Given the description of an element on the screen output the (x, y) to click on. 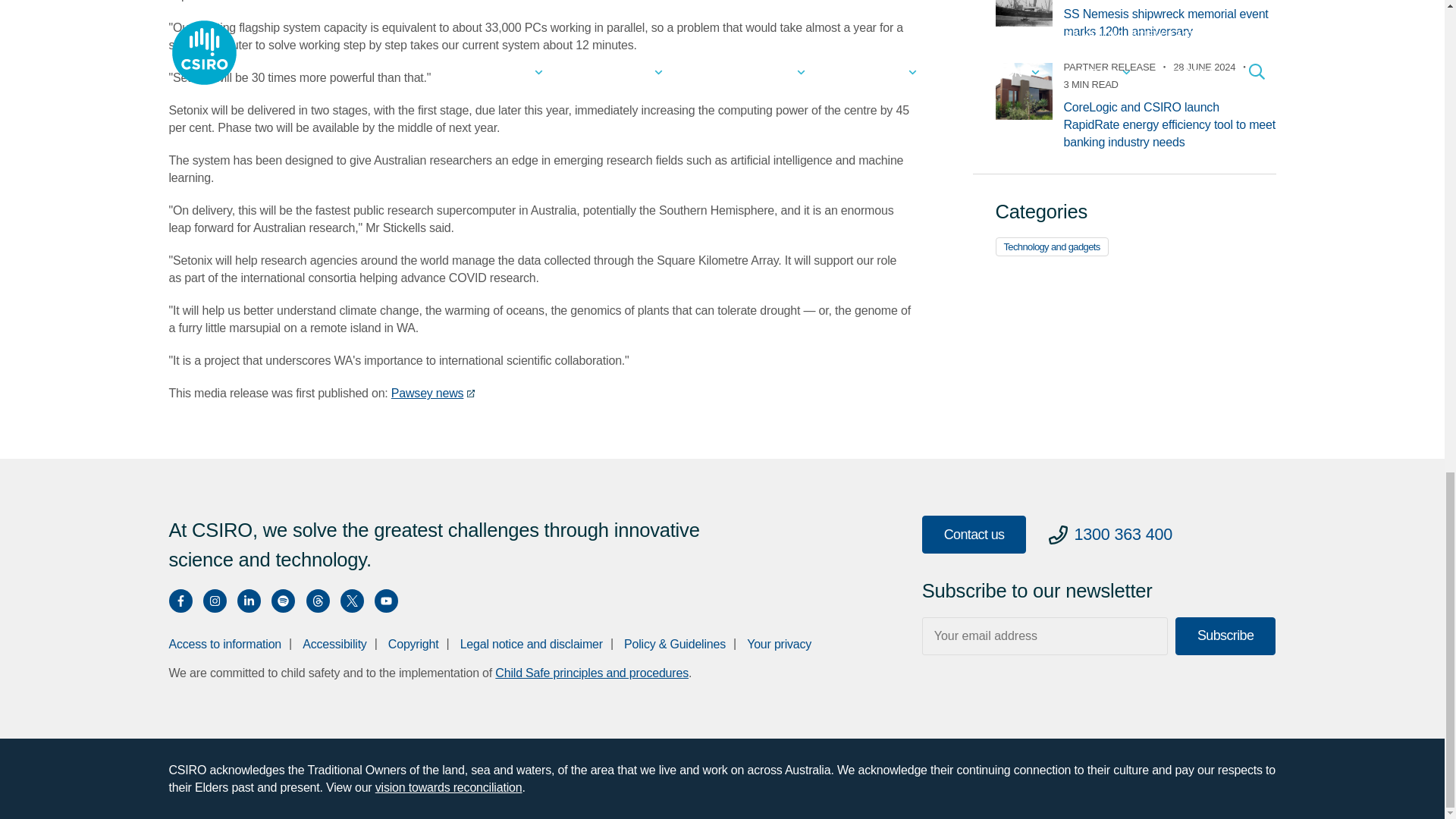
Pawsey news (433, 392)
